Given the description of an element on the screen output the (x, y) to click on. 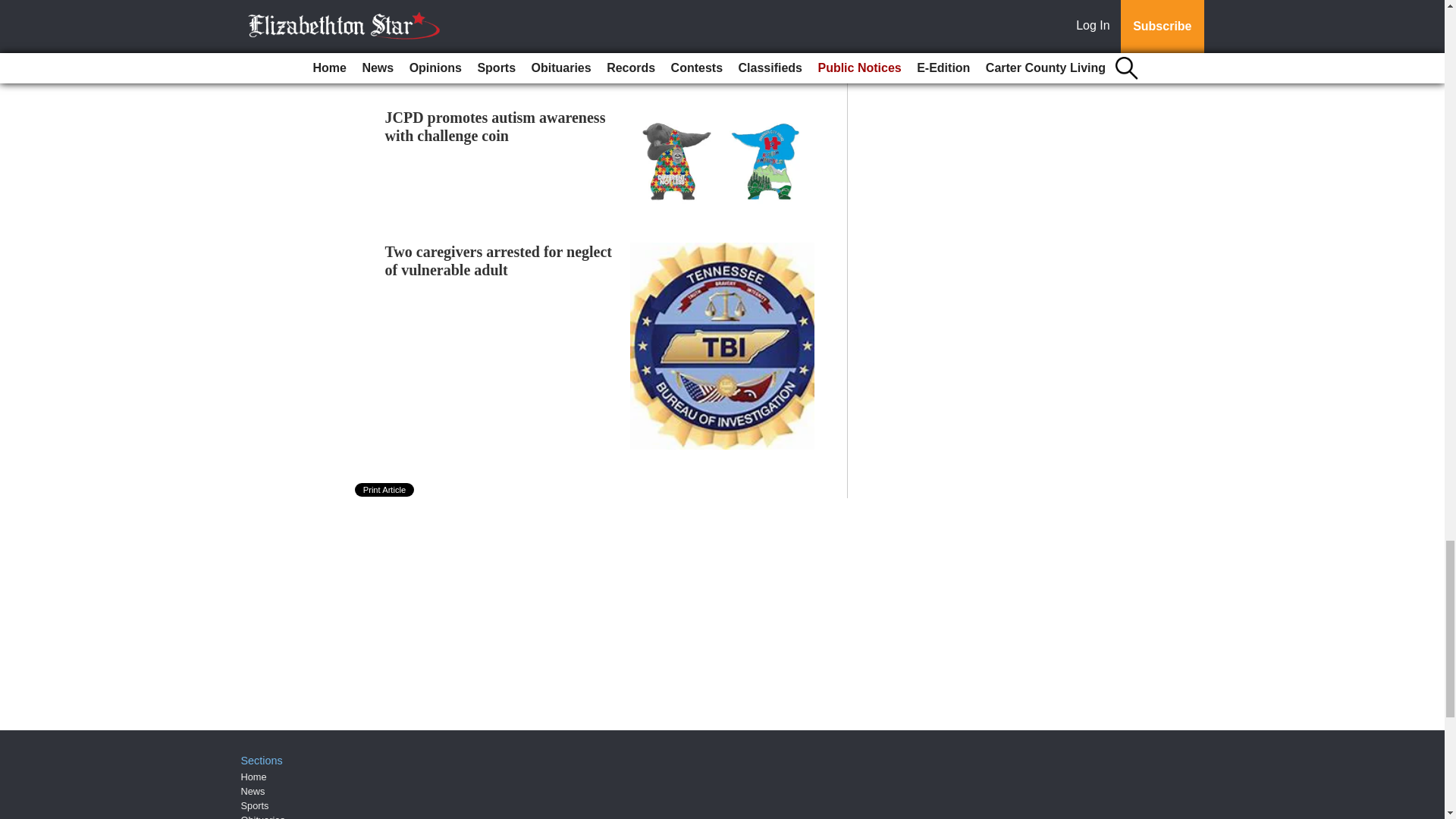
JCPD promotes autism awareness with challenge coin (495, 126)
Two caregivers arrested for neglect of vulnerable adult (498, 260)
Home (253, 776)
Print Article (384, 489)
News (252, 790)
Two caregivers arrested for neglect of vulnerable adult (498, 260)
JCPD promotes autism awareness with challenge coin (495, 126)
Sports (255, 805)
